Given the description of an element on the screen output the (x, y) to click on. 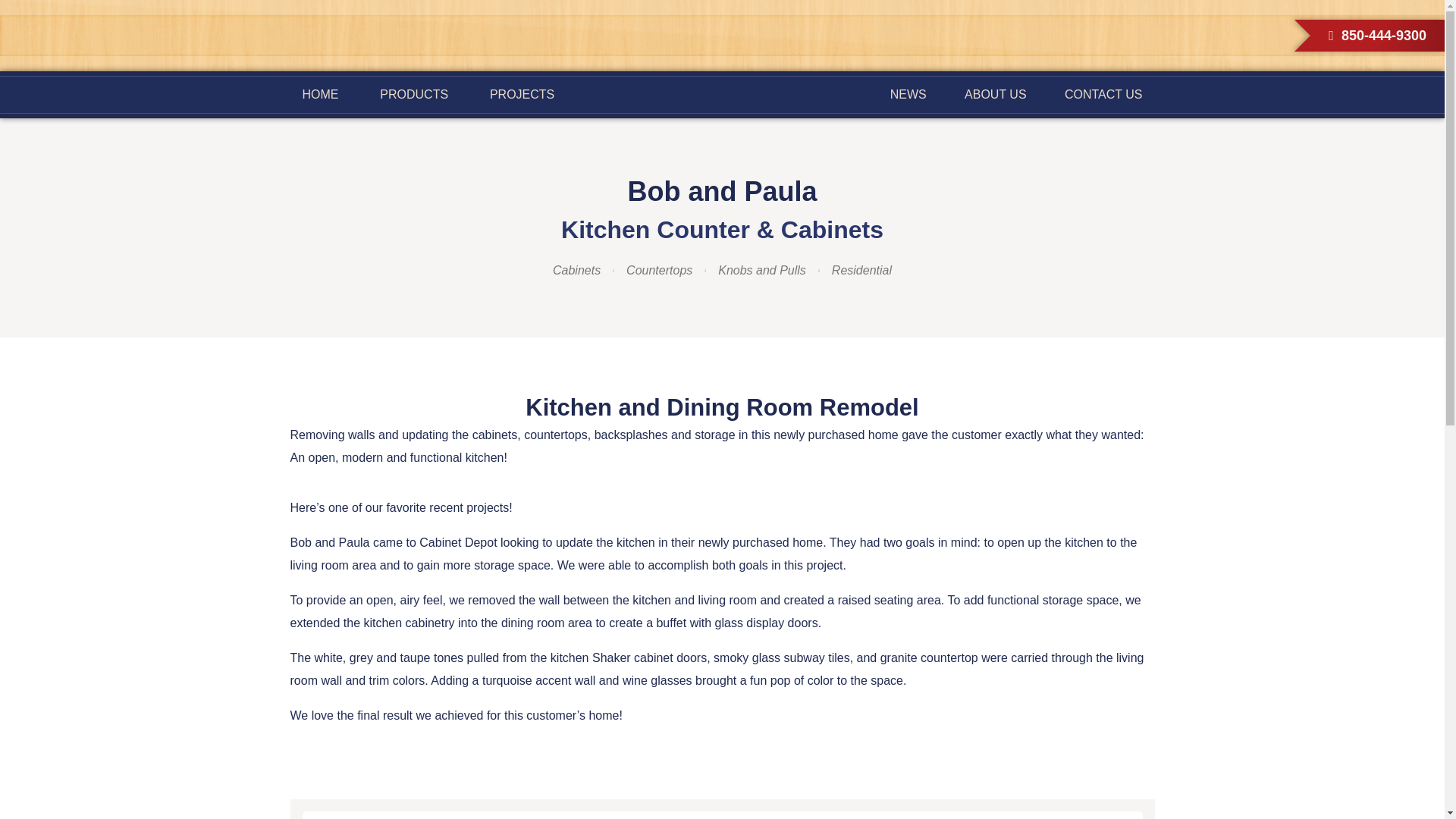
Countertops (659, 270)
Residential (861, 270)
Knobs and Pulls (761, 270)
Cabinets (576, 270)
Knobs and Pulls (761, 270)
Cabinets (576, 270)
Countertops (659, 270)
NEWS (908, 94)
ABOUT US (995, 94)
Cabinet Depot (721, 79)
PRODUCTS (414, 94)
CONTACT US (1103, 94)
HOME (319, 94)
PROJECTS (521, 94)
Residential (861, 270)
